Given the description of an element on the screen output the (x, y) to click on. 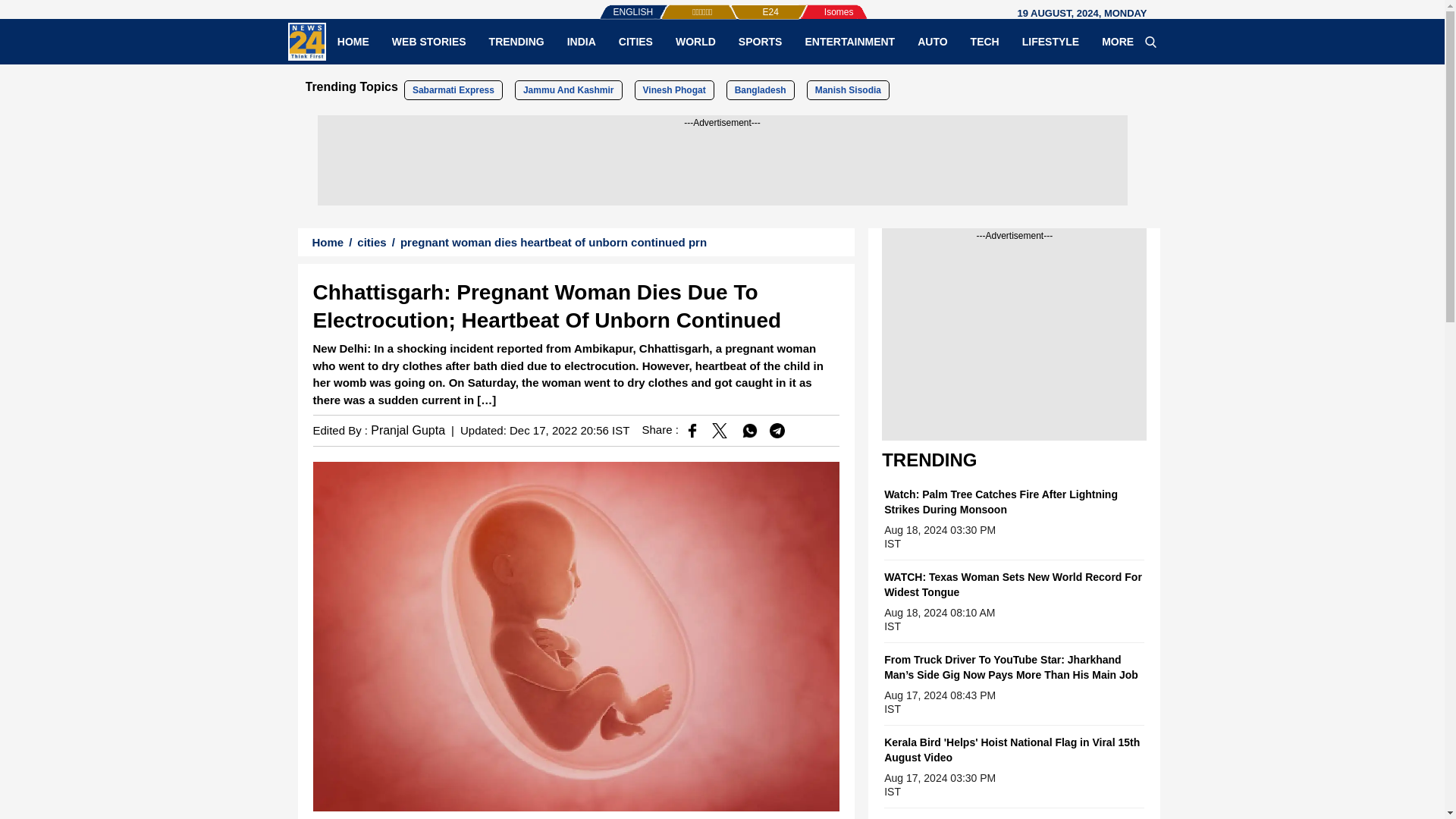
ENTERTAINMENT (849, 41)
TRENDING (516, 41)
HOME (353, 41)
ENGLISH (601, 4)
TECH (984, 41)
INDIA (581, 41)
LIFESTYLE (1050, 41)
WEB STORIES (428, 41)
SPORTS (759, 41)
CITIES (635, 41)
